Given the description of an element on the screen output the (x, y) to click on. 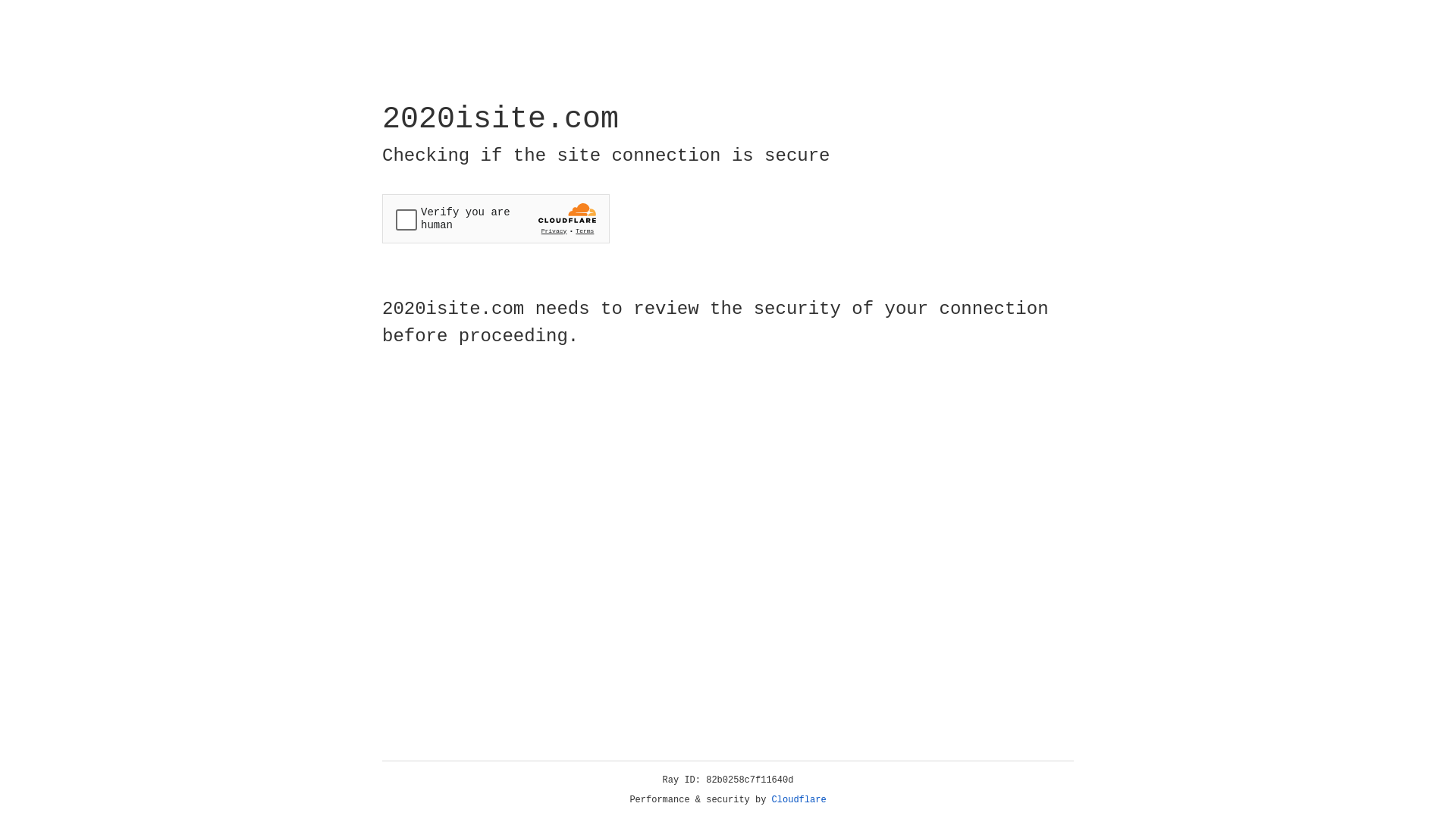
Widget containing a Cloudflare security challenge Element type: hover (495, 218)
Cloudflare Element type: text (798, 799)
